Given the description of an element on the screen output the (x, y) to click on. 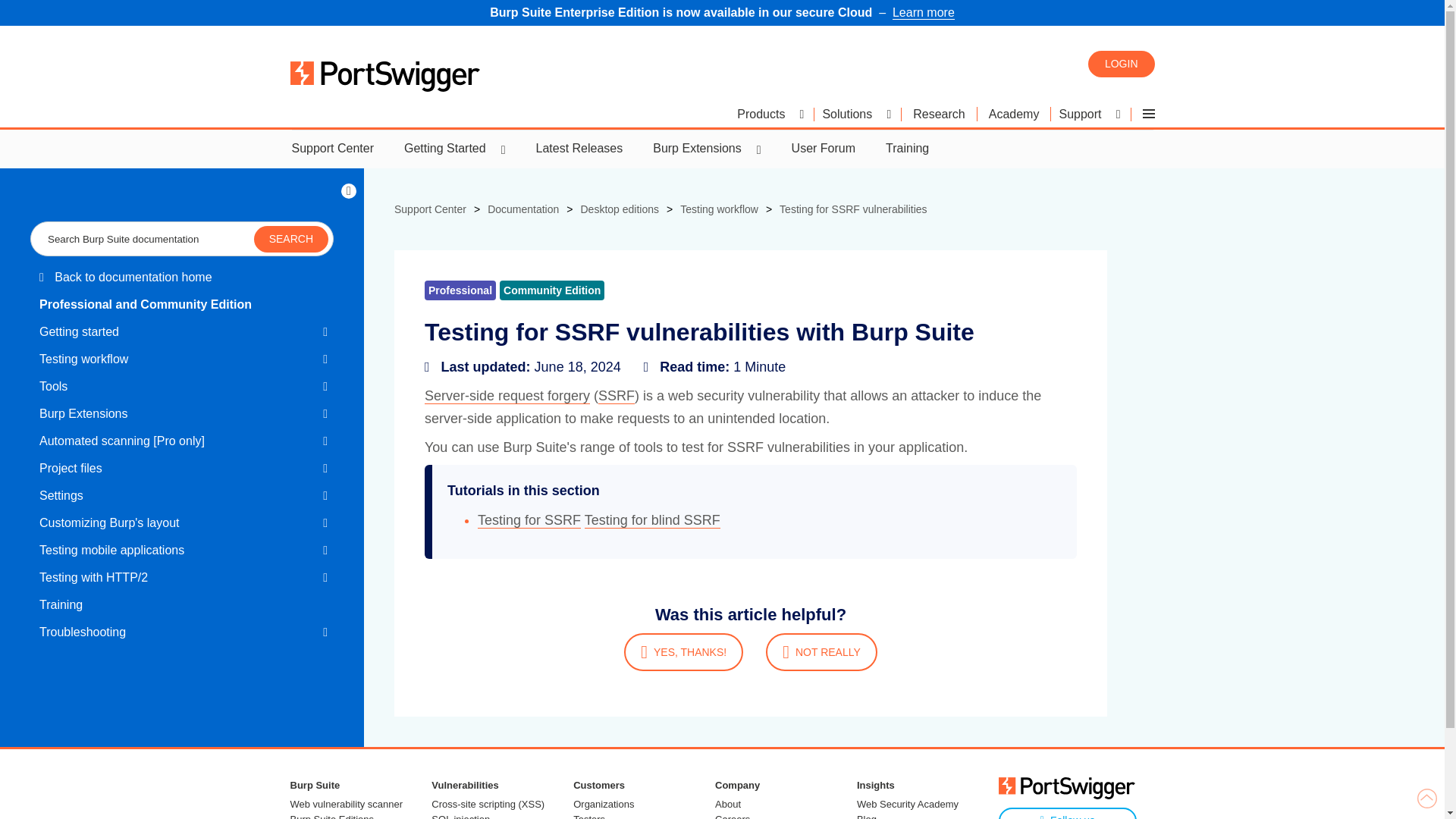
Research (938, 114)
Academy (1013, 114)
LOGIN (1120, 62)
